Given the description of an element on the screen output the (x, y) to click on. 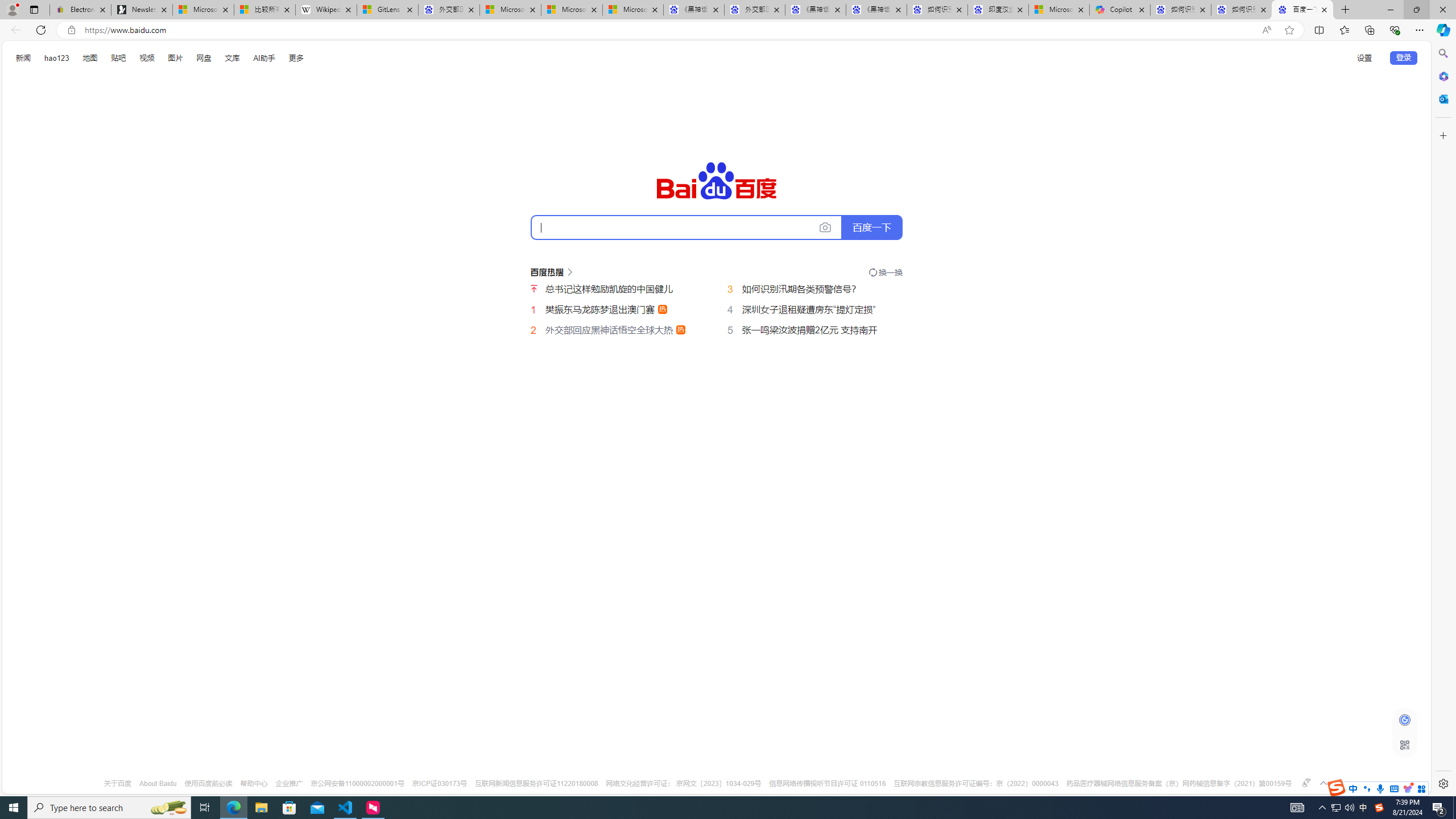
hao123 (56, 57)
Class: icon (1404, 744)
